Given the description of an element on the screen output the (x, y) to click on. 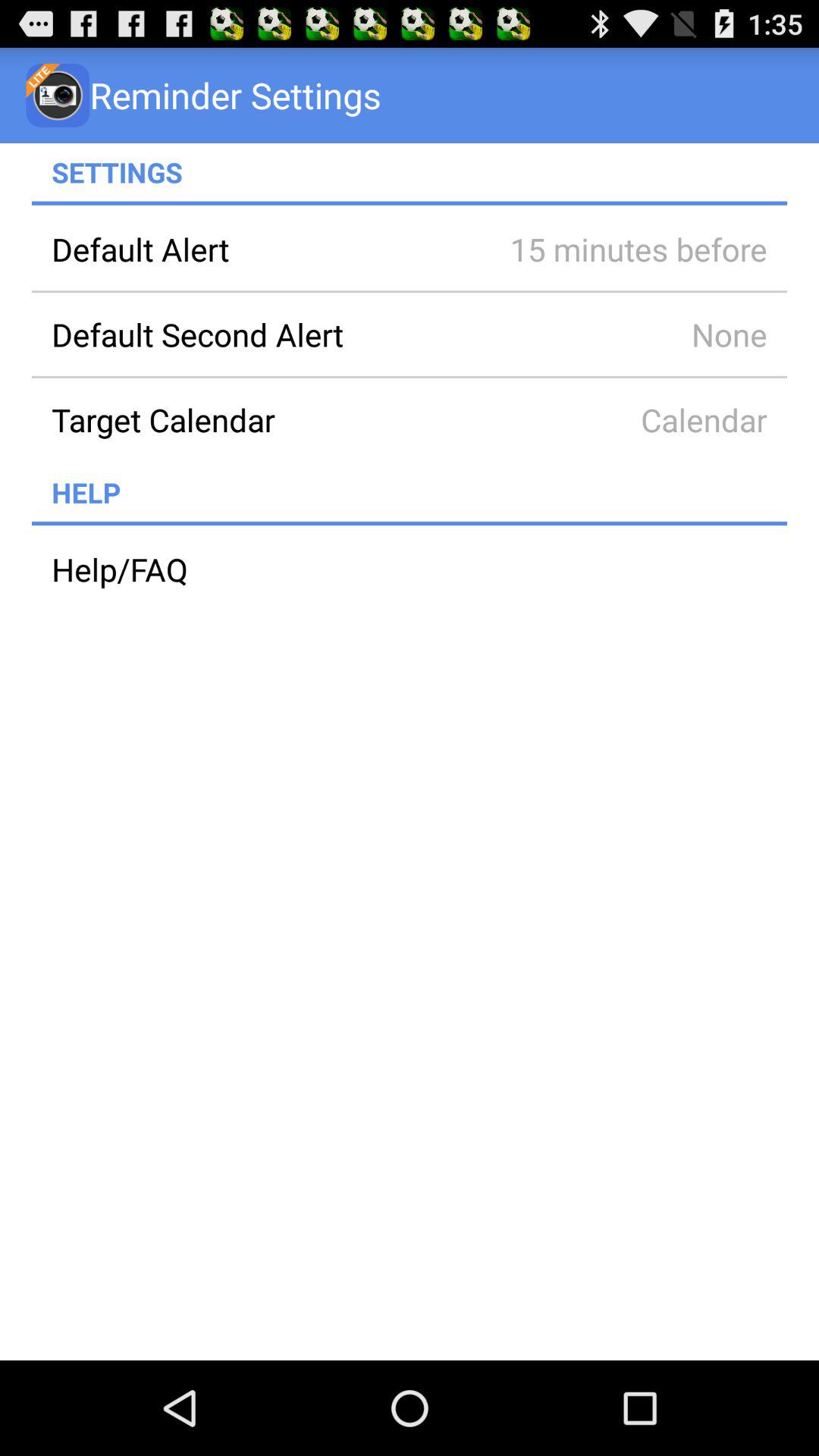
select item to the left of calendar icon (259, 419)
